Given the description of an element on the screen output the (x, y) to click on. 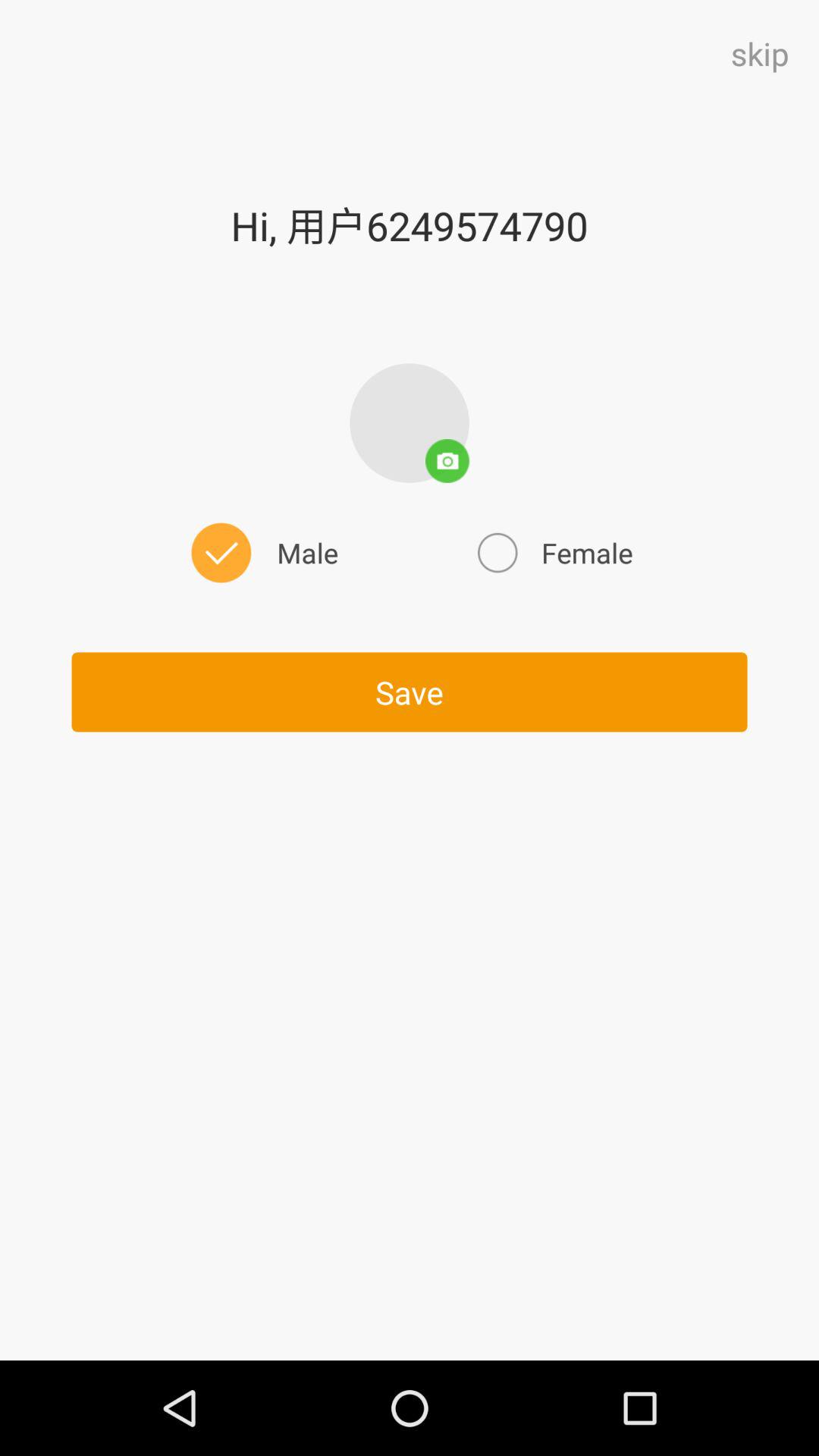
click the icon below the male (409, 691)
